Given the description of an element on the screen output the (x, y) to click on. 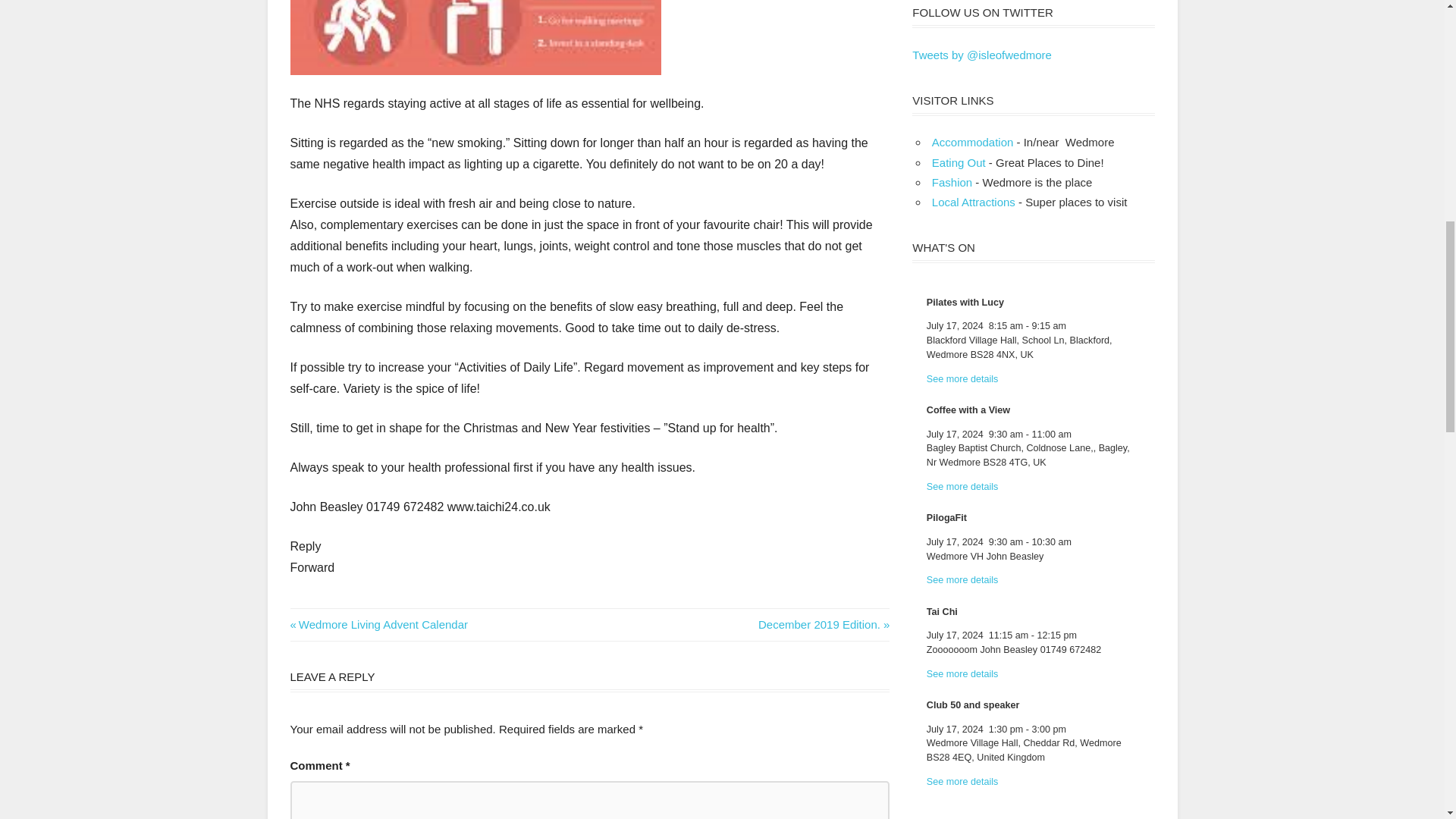
See more details (962, 674)
See more details (962, 579)
See more details (378, 624)
See more details (962, 378)
Fashion (962, 486)
Local Attractions (951, 182)
Accommodation (972, 201)
Eating Out (823, 624)
See more details (972, 141)
